Given the description of an element on the screen output the (x, y) to click on. 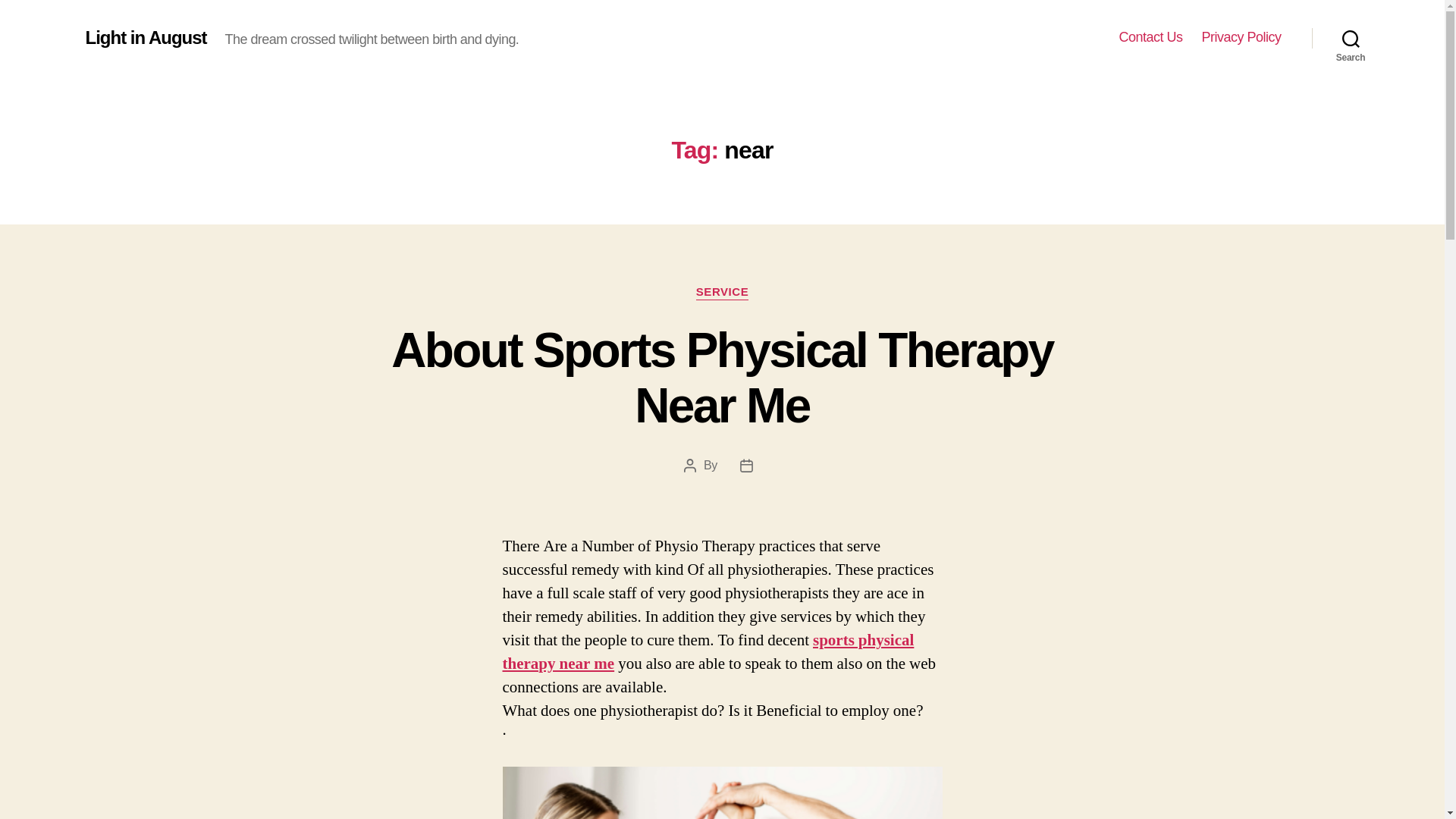
Privacy Policy (1241, 37)
About Sports Physical Therapy Near Me (721, 377)
SERVICE (721, 292)
sports physical therapy near me (708, 651)
Search (1350, 37)
Contact Us (1150, 37)
Light in August (145, 37)
